Given the description of an element on the screen output the (x, y) to click on. 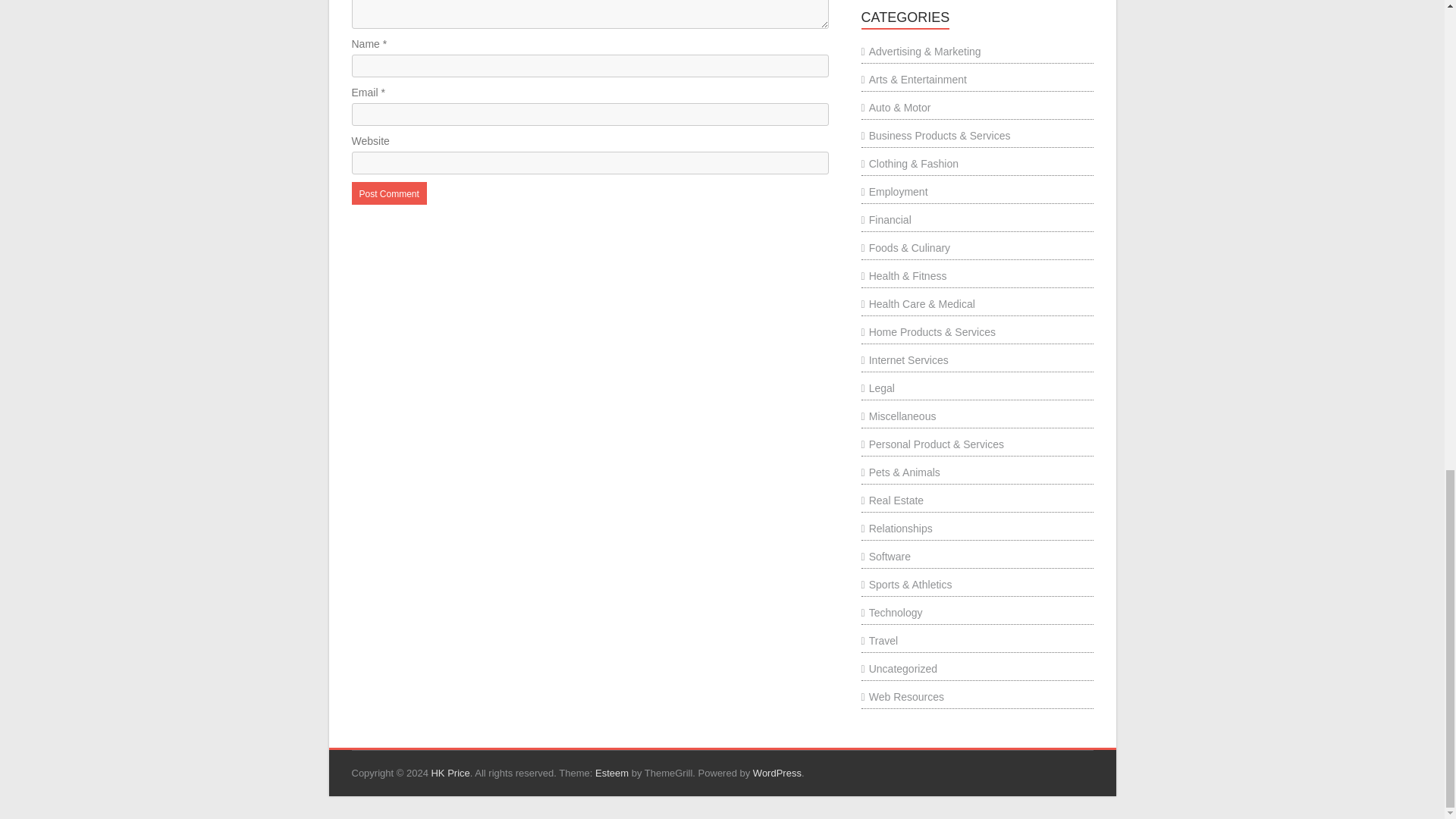
WordPress (777, 772)
Post Comment (389, 192)
Post Comment (389, 192)
HK Price (449, 772)
Esteem (611, 772)
